Given the description of an element on the screen output the (x, y) to click on. 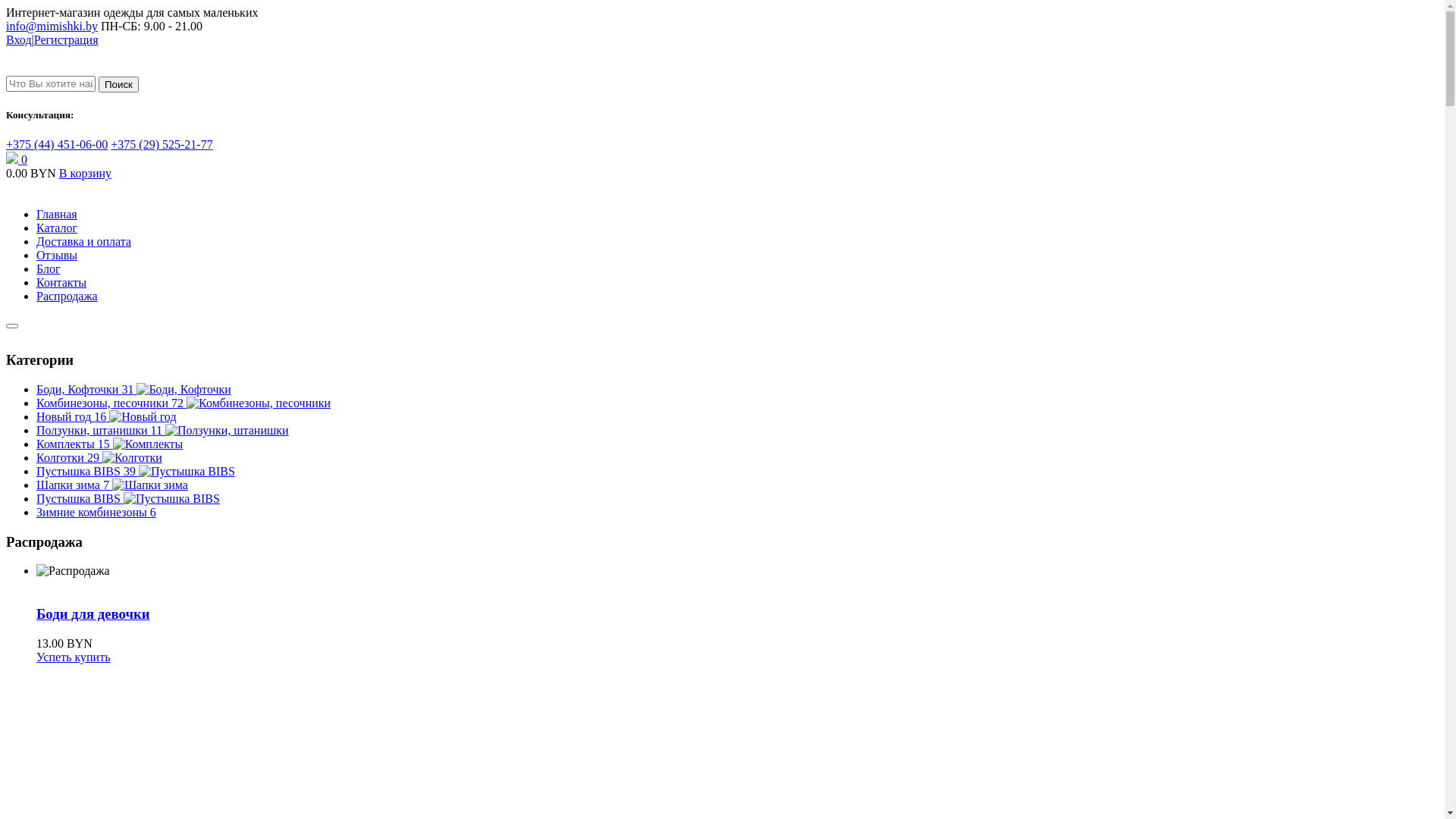
0 Element type: text (16, 159)
+375 (44) 451-06-00 Element type: text (56, 144)
info@mimishki.by Element type: text (51, 25)
+375 (29) 525-21-77 Element type: text (161, 144)
